Given the description of an element on the screen output the (x, y) to click on. 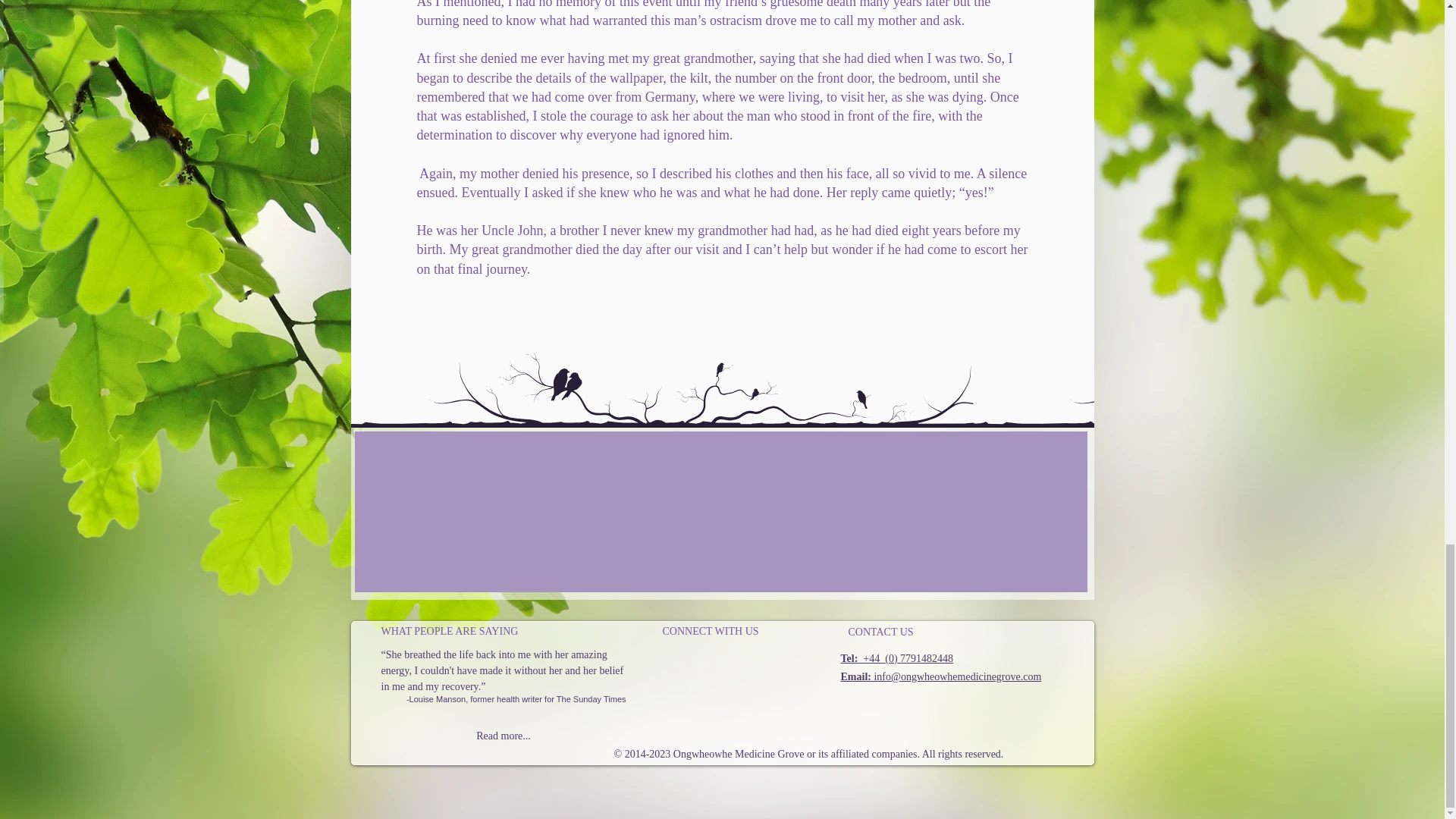
Read more... (502, 735)
